Given the description of an element on the screen output the (x, y) to click on. 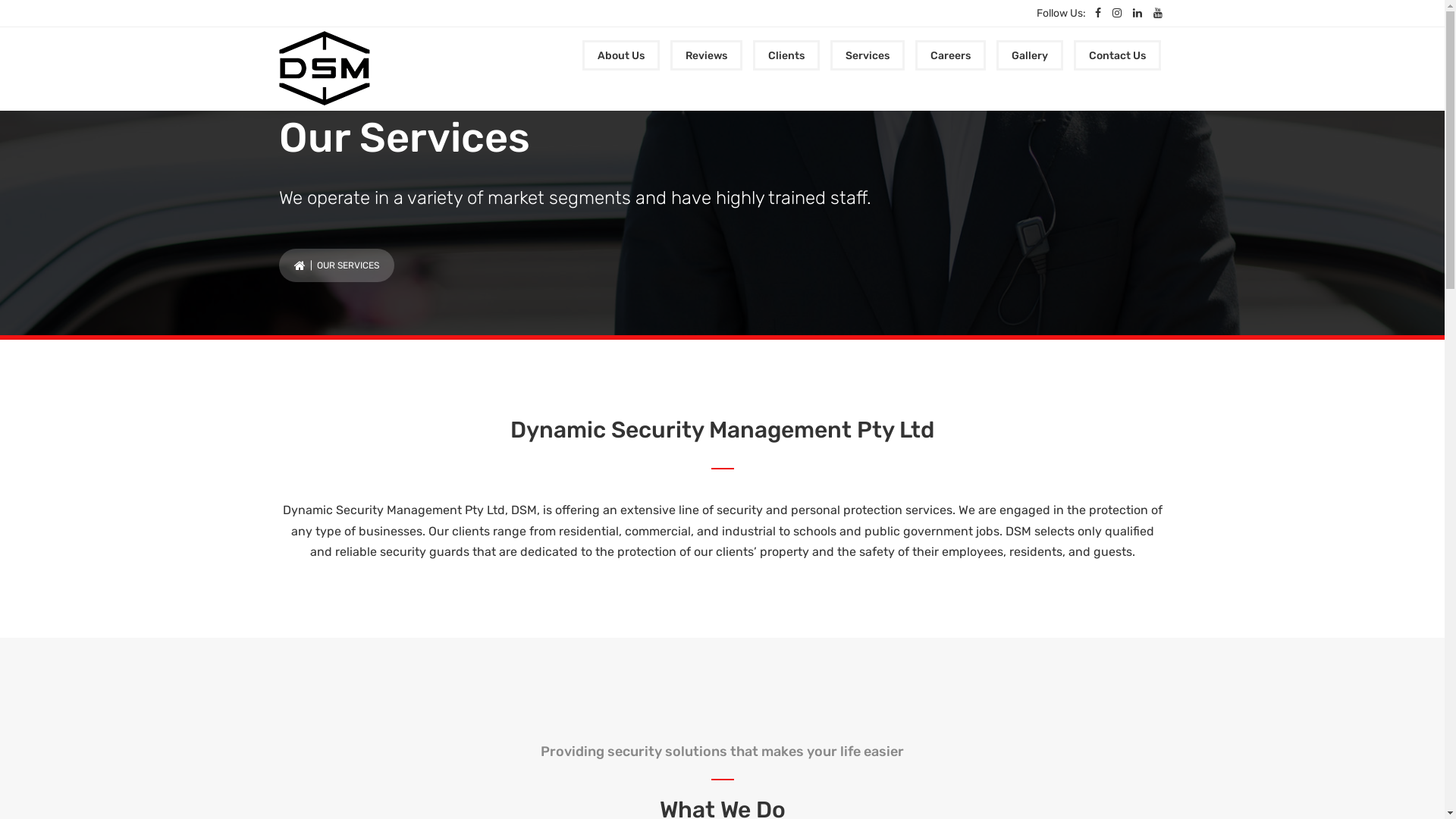
Clients Element type: text (785, 55)
Gallery Element type: text (1029, 55)
Services Element type: text (866, 55)
Reviews Element type: text (706, 55)
About Us Element type: text (620, 55)
Careers Element type: text (949, 55)
Contact Us Element type: text (1117, 55)
